Given the description of an element on the screen output the (x, y) to click on. 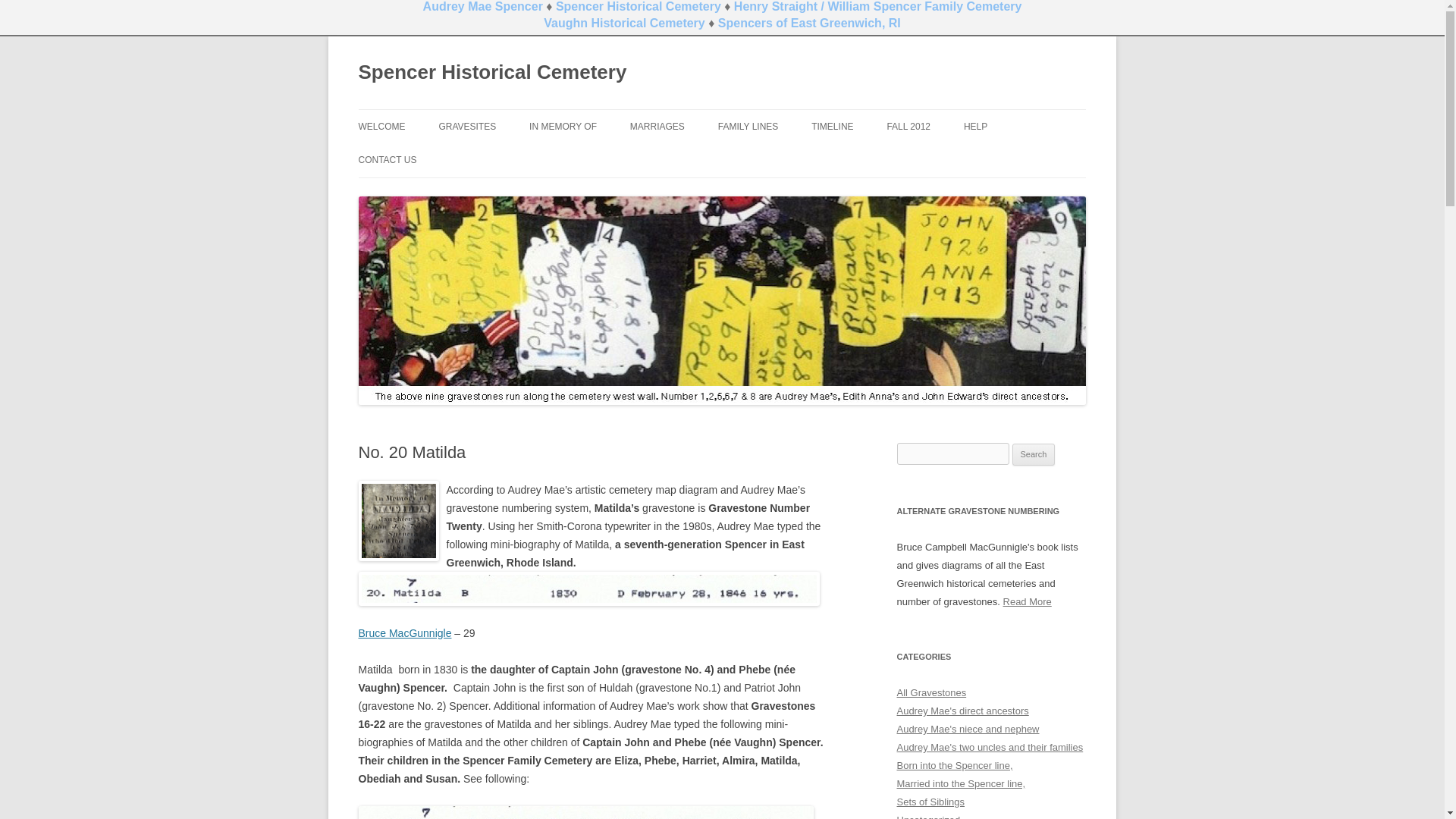
HELP (975, 126)
Spencer Historical Cemetery (638, 6)
FAMILY LINES (747, 126)
Spencer Historical Cemetery (492, 72)
Spencers of East Greenwich, RI (809, 22)
Audrey Mae's two uncles and their families (989, 747)
Born into the Spencer line, (953, 765)
Vaughn Historical Cemetery (623, 22)
Audrey Mae's direct ancestors (961, 710)
Bruce Campbell MacGunnigle (1027, 601)
Married into the Spencer line, (960, 783)
Read More (1027, 601)
Search (1033, 454)
WELCOME (381, 126)
FALL 2012 (908, 126)
